Given the description of an element on the screen output the (x, y) to click on. 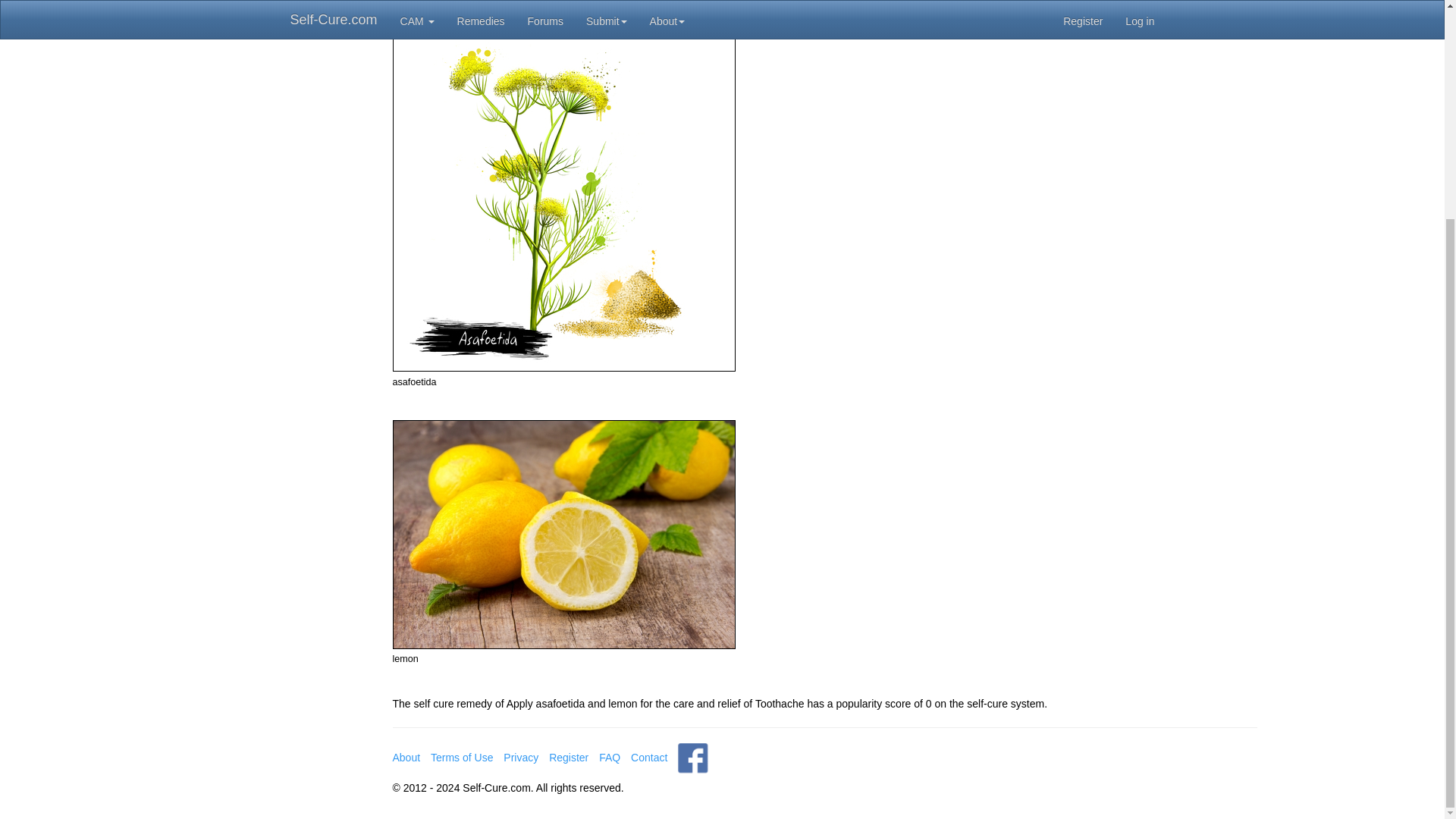
Register (568, 757)
Frequently Asked Questions (609, 757)
Terms of Use (461, 757)
About Self-Cure.com (406, 757)
FAQ (609, 757)
Contact (648, 757)
Our Privacy Policy (520, 757)
Terms of Use (461, 757)
Become a Registered User on Self-Cure.com (568, 757)
About (406, 757)
Privacy (520, 757)
